Given the description of an element on the screen output the (x, y) to click on. 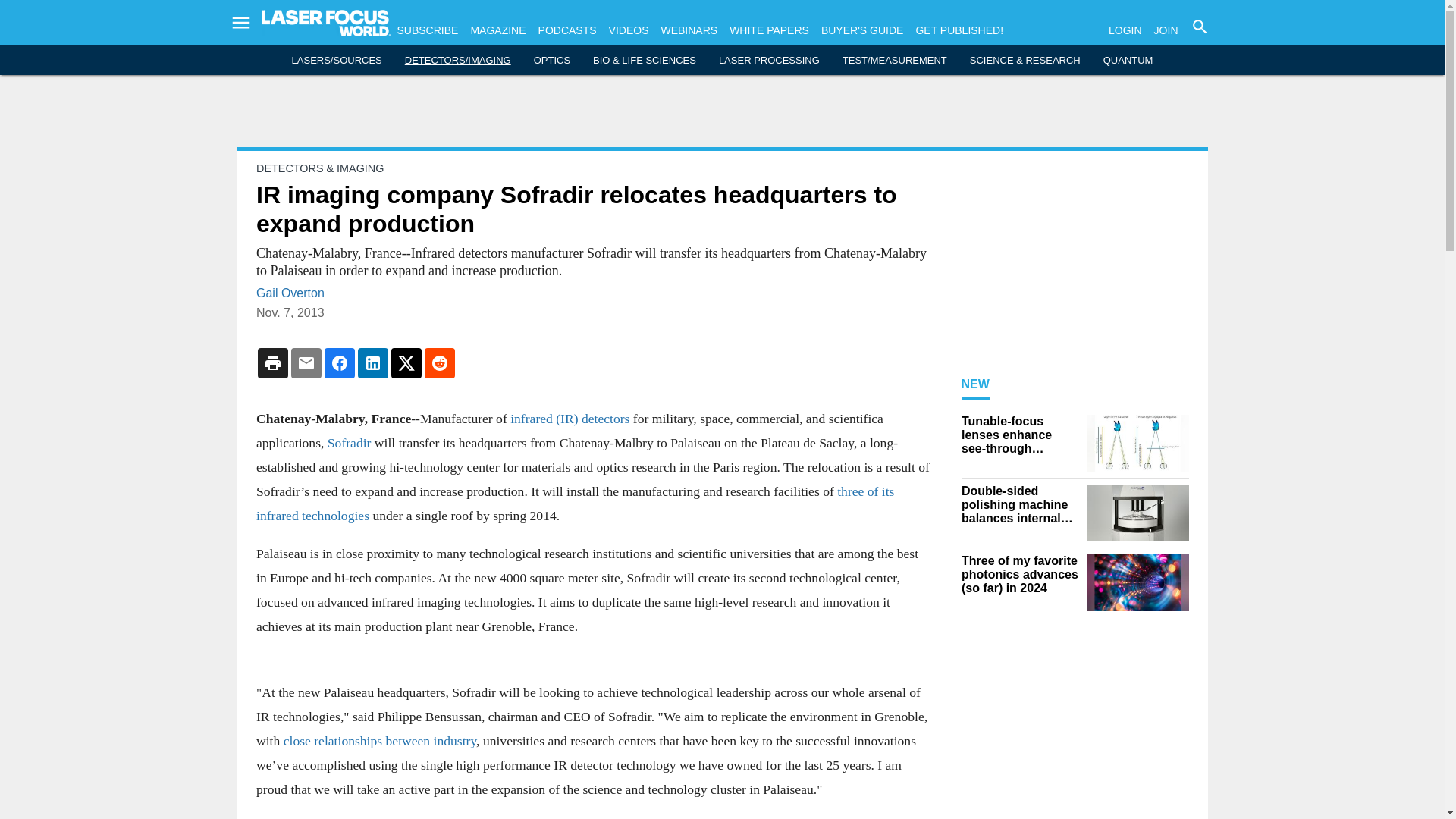
GET PUBLISHED! (959, 30)
MAGAZINE (497, 30)
OPTICS (552, 60)
LASER PROCESSING (769, 60)
QUANTUM (1128, 60)
BUYER'S GUIDE (861, 30)
LOGIN (1124, 30)
SUBSCRIBE (427, 30)
WEBINARS (689, 30)
JOIN (1165, 30)
